Given the description of an element on the screen output the (x, y) to click on. 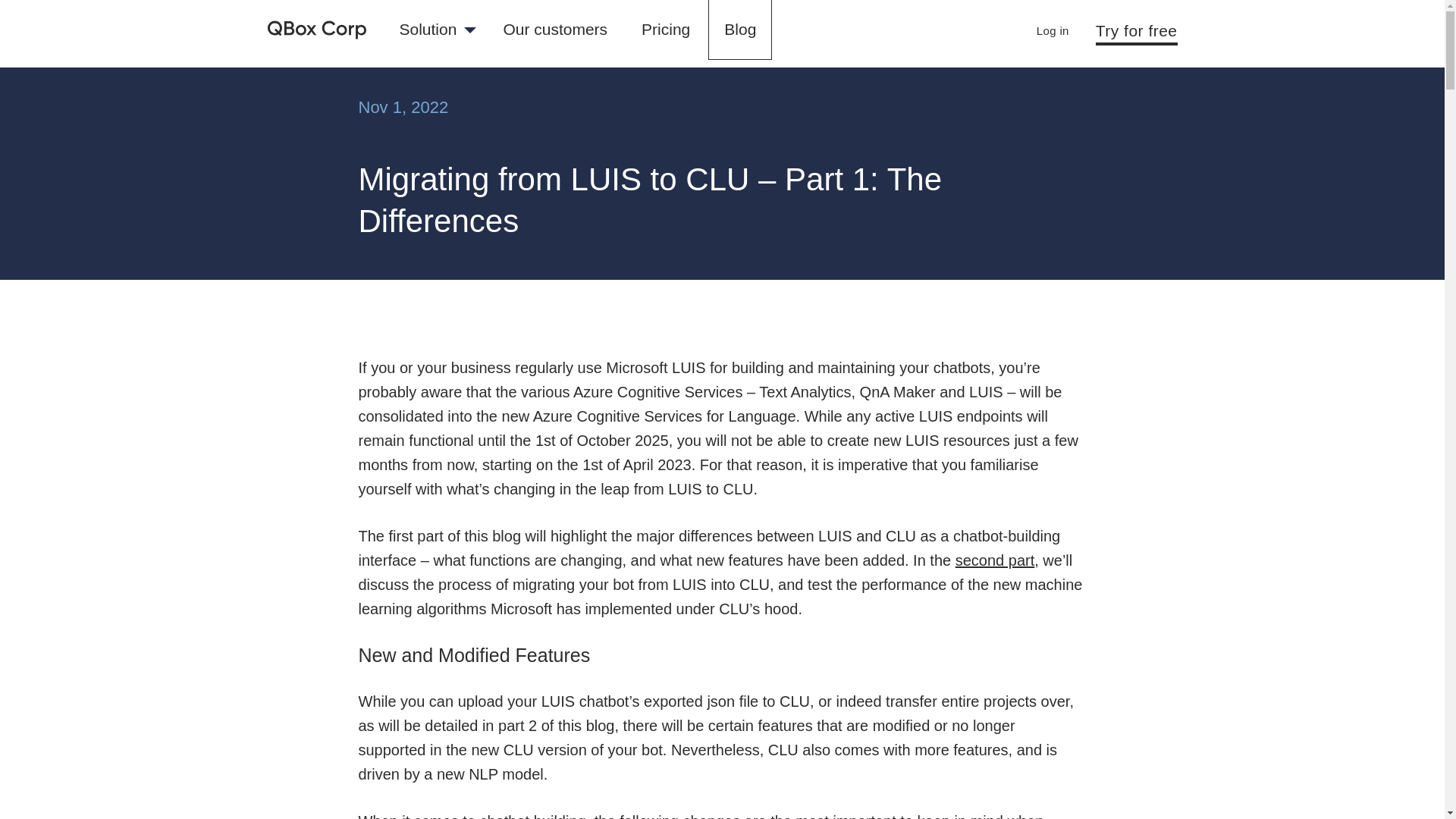
See how our customers get the most out of QBox (554, 29)
second part (995, 560)
Blog (739, 29)
Sign up and try QBox (1136, 31)
Our customers (554, 29)
Log in (1052, 31)
Read our latest articles (739, 29)
Log in (1052, 31)
See what QBox can do (434, 29)
Solution (434, 29)
Try for free (1136, 31)
QBox Homepage (315, 29)
Pricing (666, 29)
Build the right QBox for you (666, 29)
